Given the description of an element on the screen output the (x, y) to click on. 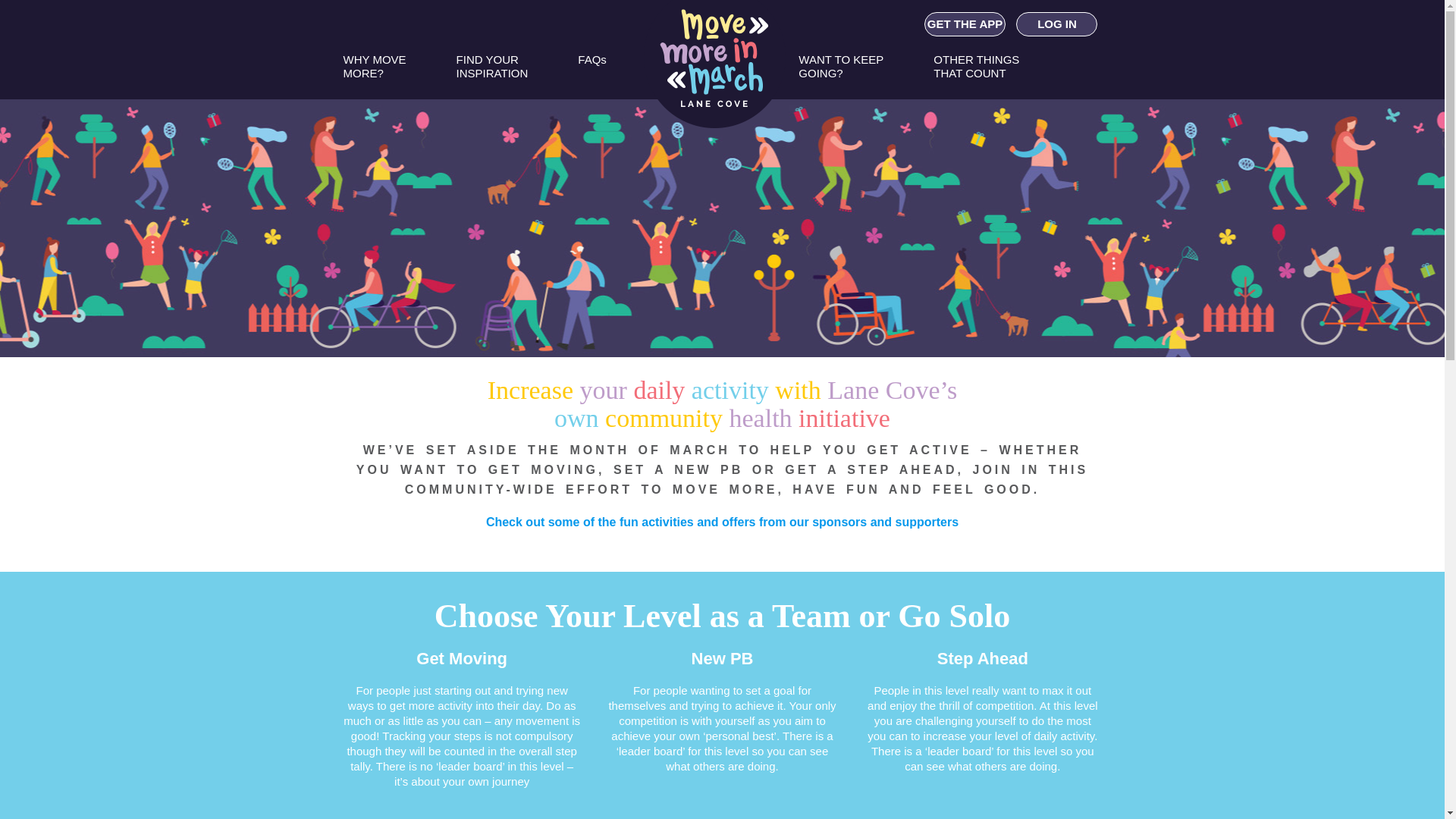
CONTACT Element type: text (850, 124)
WHY MOVE
MORE? Element type: text (373, 72)
FIND YOUR
INSPIRATION Element type: text (492, 72)
FAQs Element type: text (591, 72)
WANT TO KEEP
GOING? Element type: text (840, 72)
GET THE APP Element type: text (964, 24)
OTHER THINGS
THAT COUNT Element type: text (976, 72)
LOG IN Element type: text (1056, 24)
